Given the description of an element on the screen output the (x, y) to click on. 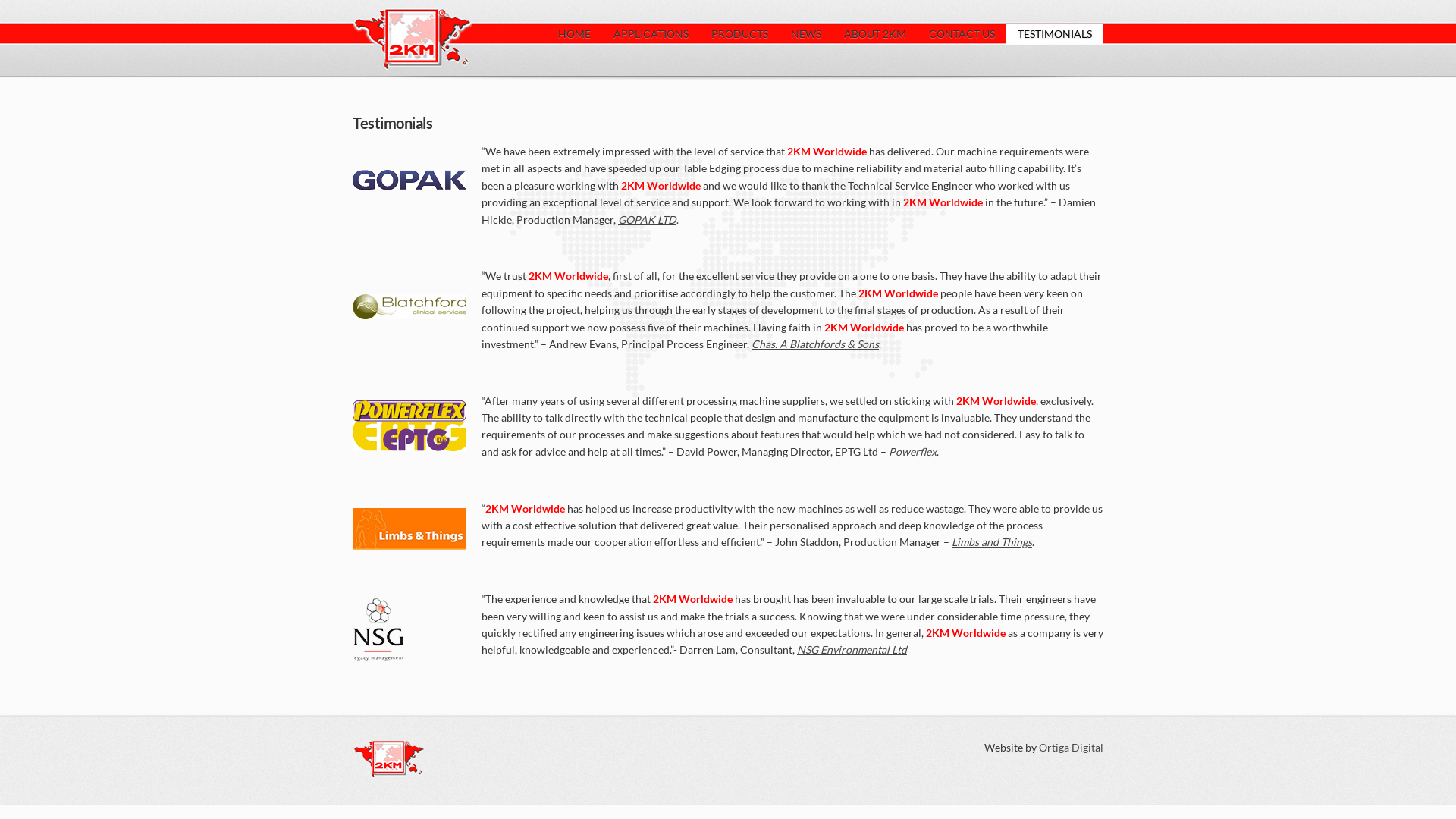
CONTACT US Element type: text (961, 33)
NSG Environmental Ltd Element type: text (851, 649)
Powerflex Element type: text (912, 451)
TESTIMONIALS Element type: text (1054, 33)
APPLICATIONS Element type: text (650, 33)
NEWS Element type: text (805, 33)
Limbs and Things Element type: text (991, 541)
GOPAK LTD Element type: text (647, 219)
ABOUT 2KM Element type: text (874, 33)
Ortiga Digital Element type: text (1070, 746)
HOME Element type: text (574, 33)
2KM North America Element type: hover (389, 743)
PRODUCTS Element type: text (739, 33)
2KM North America Element type: hover (411, 7)
Chas. A Blatchfords & Sons Element type: text (814, 343)
